Given the description of an element on the screen output the (x, y) to click on. 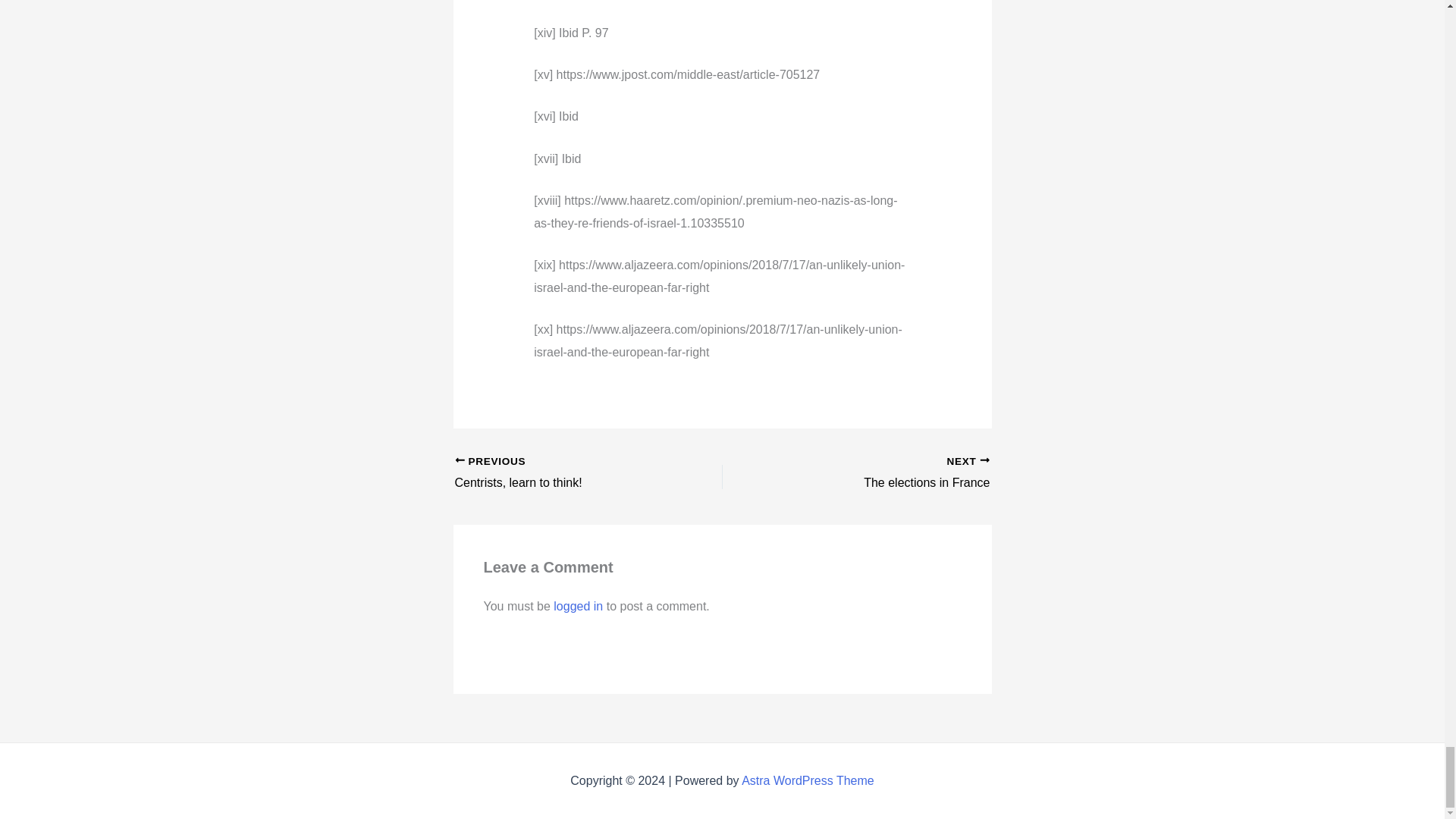
logged in (882, 473)
Astra WordPress Theme (577, 605)
Centrists, learn to think! (808, 780)
The elections in France (561, 473)
